Given the description of an element on the screen output the (x, y) to click on. 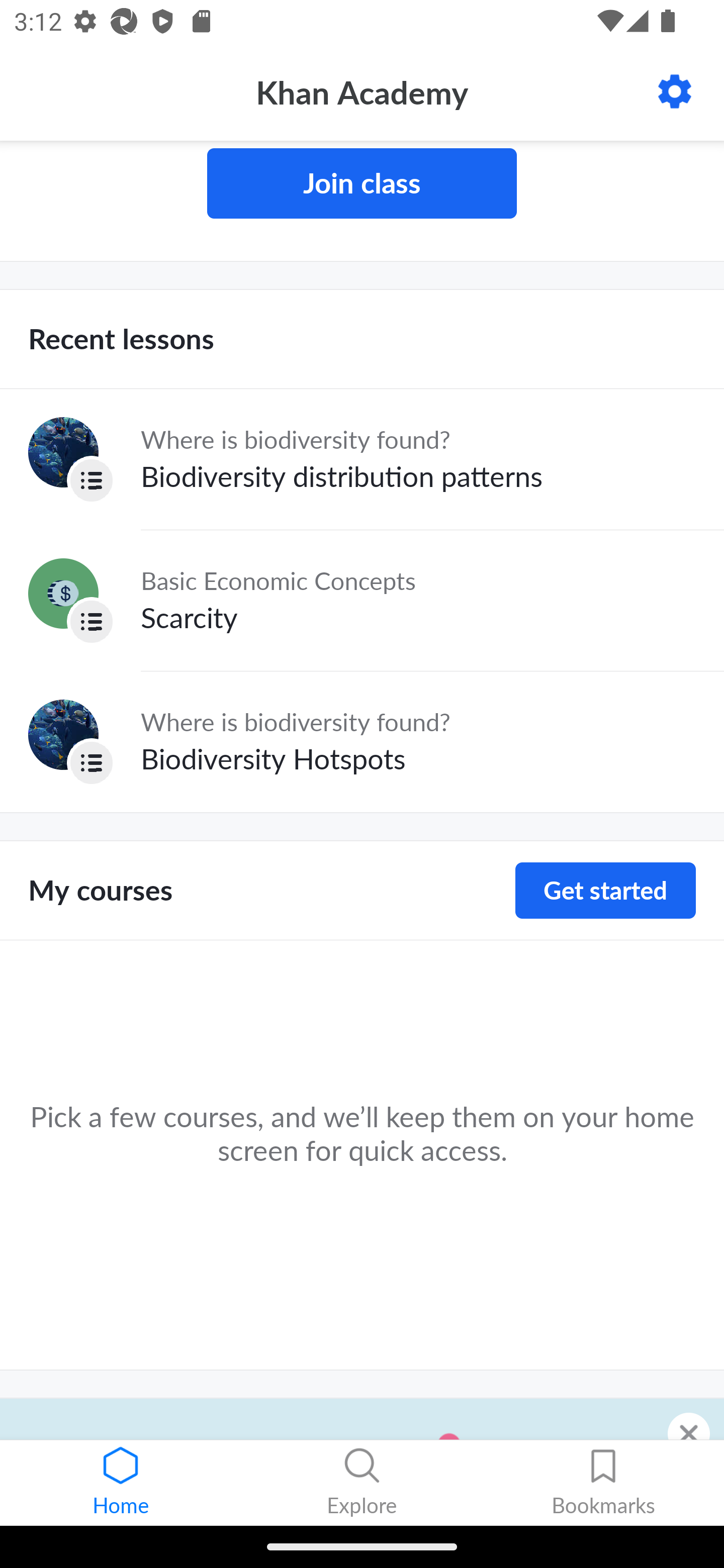
Settings (674, 91)
Join class (361, 182)
Lesson Basic Economic Concepts Scarcity (362, 600)
Get started (605, 890)
Home (120, 1482)
Explore (361, 1482)
Bookmarks (603, 1482)
